Given the description of an element on the screen output the (x, y) to click on. 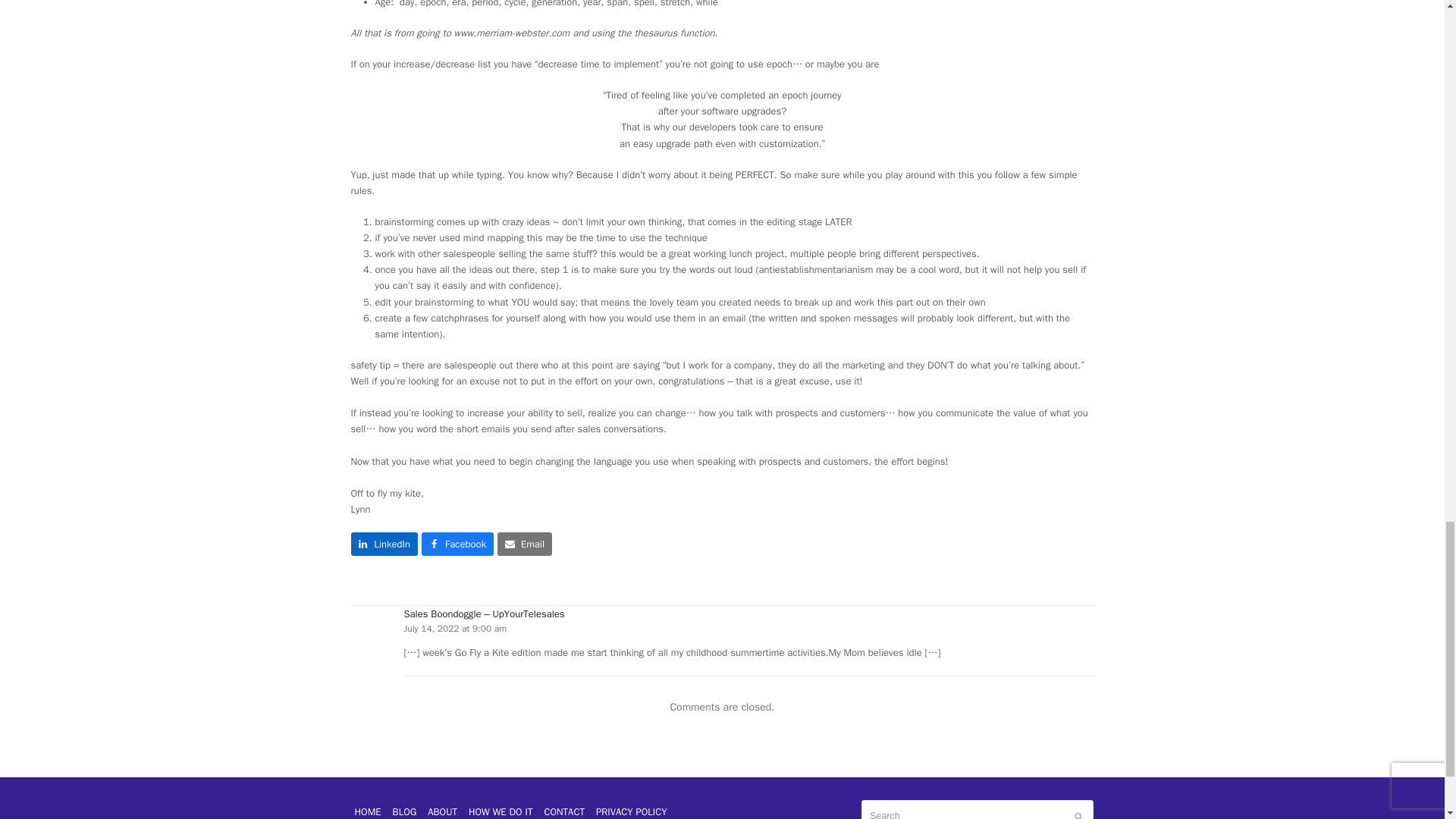
Facebook (457, 544)
LinkedIn (383, 544)
Email (524, 544)
ABOUT (442, 809)
July 14, 2022 at 9:00 am (454, 628)
CONTACT (564, 809)
HOW WE DO IT (499, 809)
BLOG (404, 809)
HOME (367, 809)
PRIVACY POLICY (631, 809)
